Given the description of an element on the screen output the (x, y) to click on. 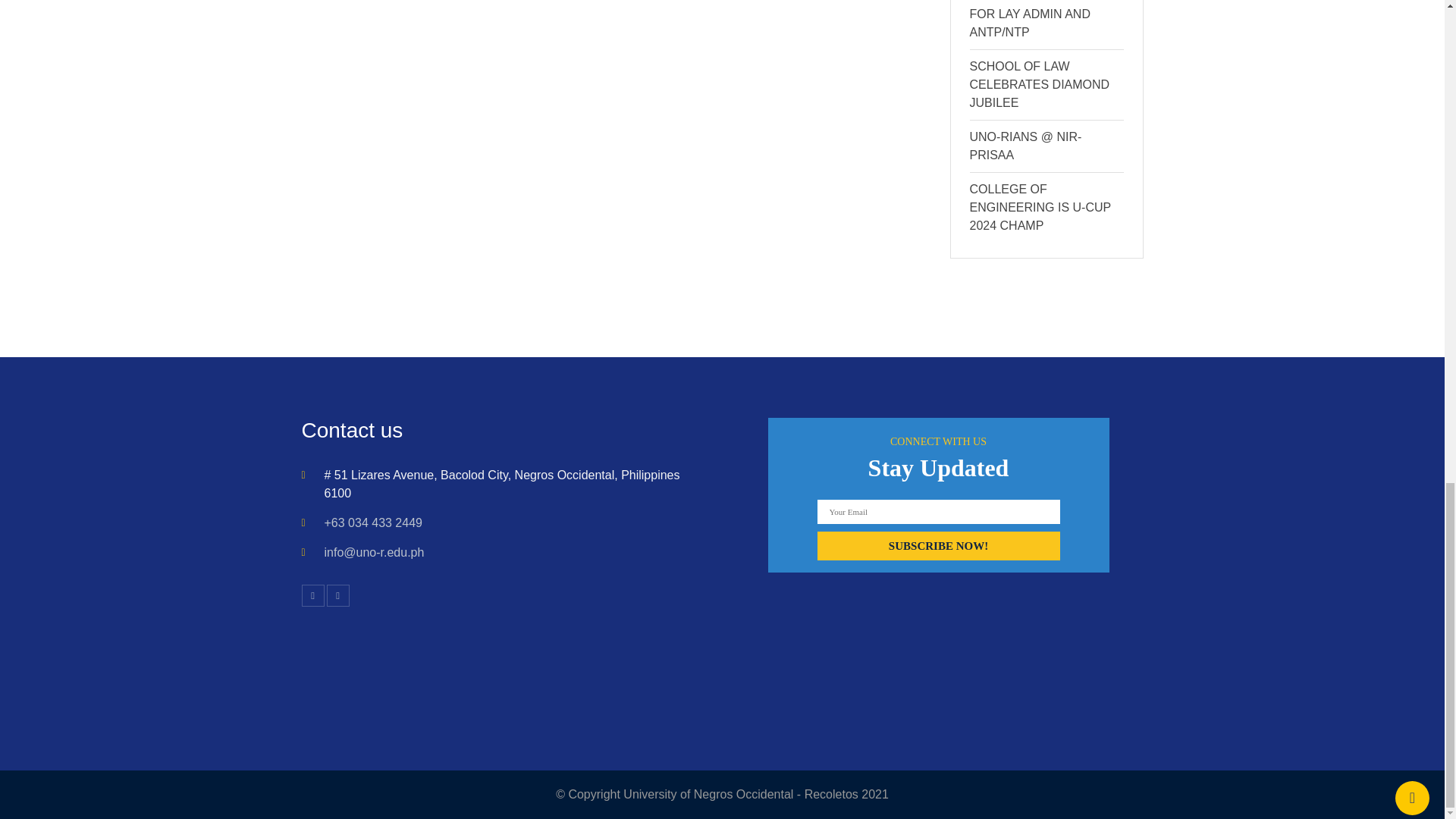
SUBSCRIBE NOW! (937, 545)
